Given the description of an element on the screen output the (x, y) to click on. 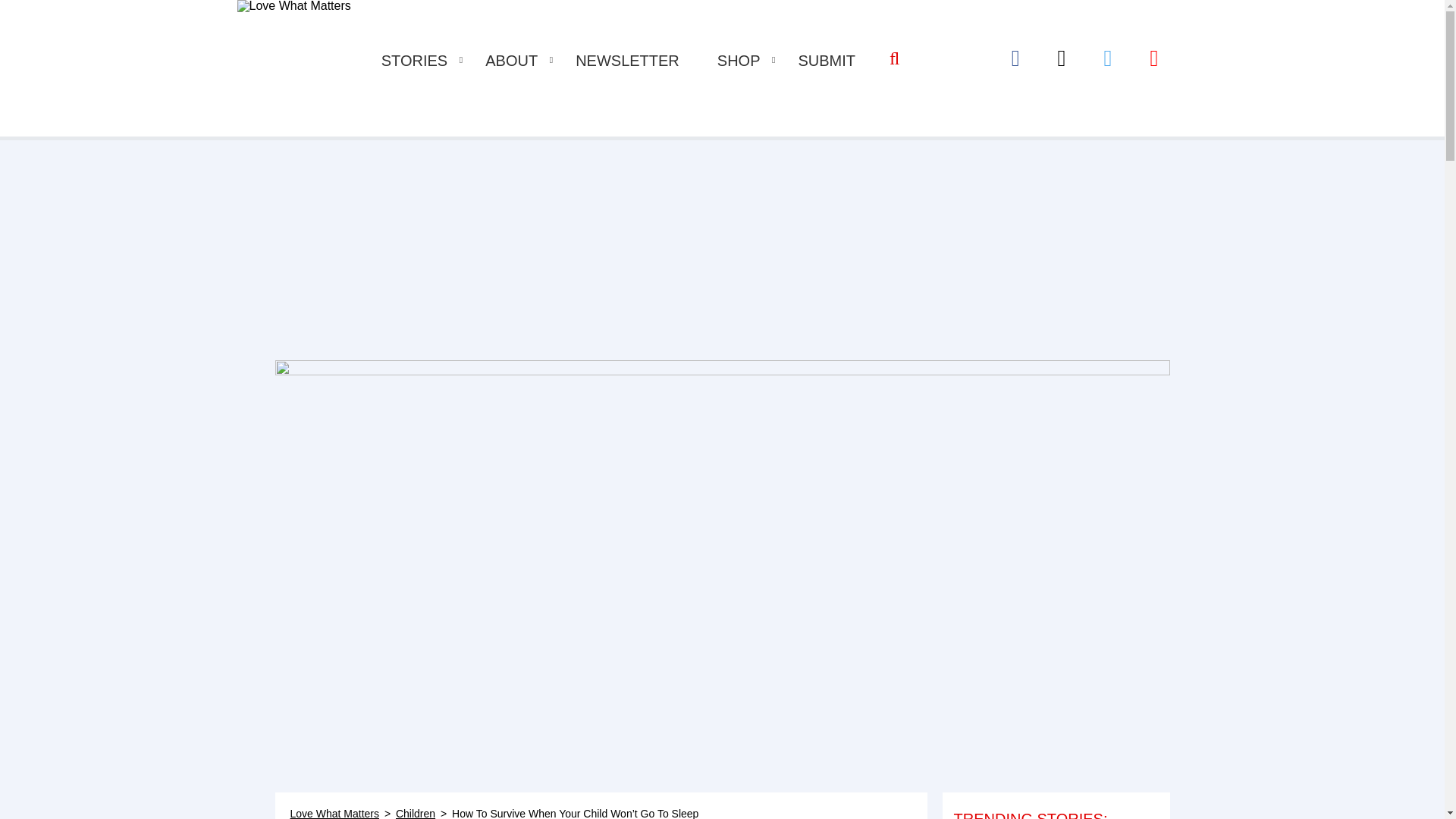
ABOUT (511, 60)
STORIES (414, 60)
NEWSLETTER (627, 60)
SHOP (738, 60)
SUBMIT (826, 60)
